Given the description of an element on the screen output the (x, y) to click on. 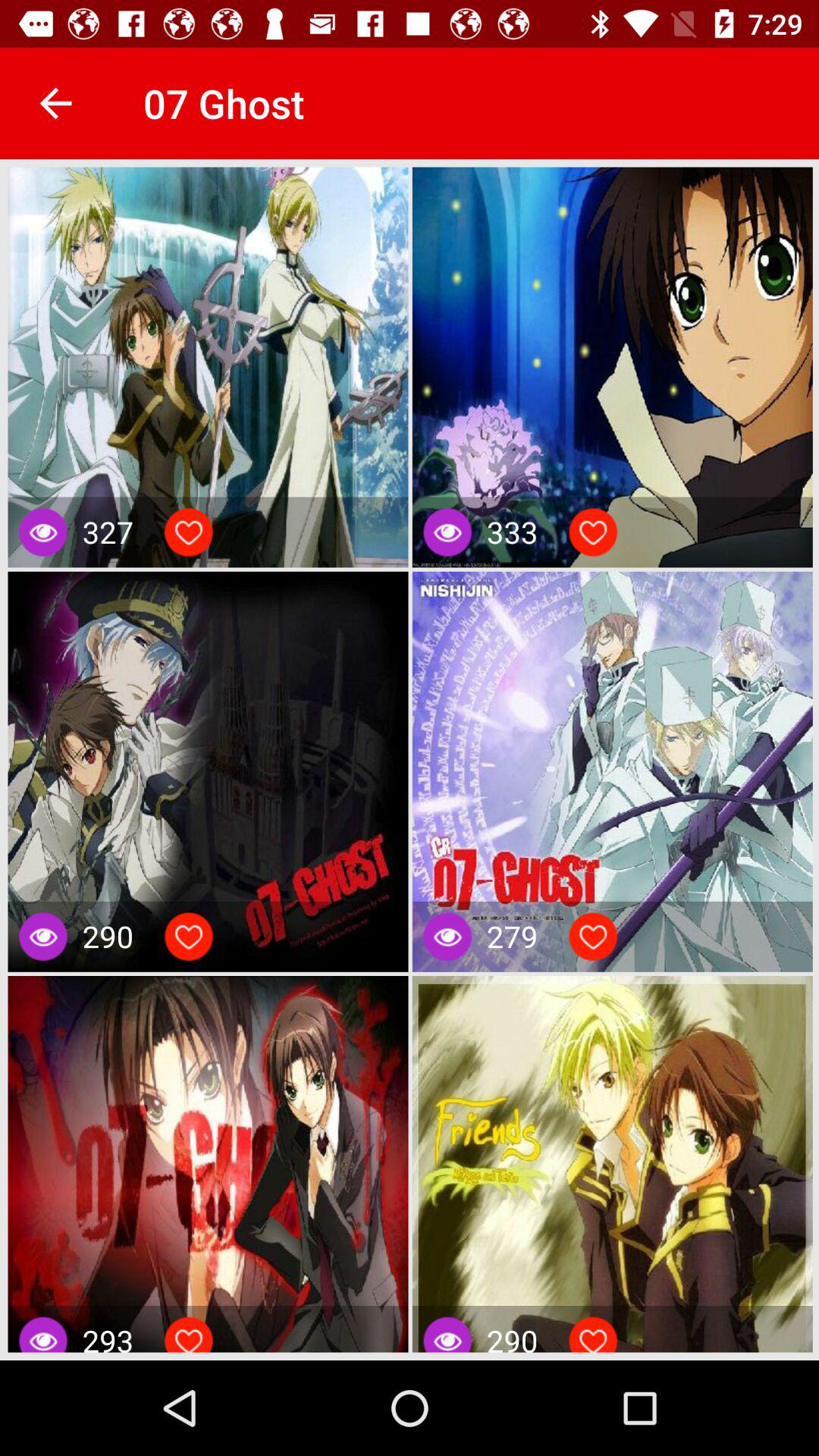
mark as favorite (593, 1338)
